Given the description of an element on the screen output the (x, y) to click on. 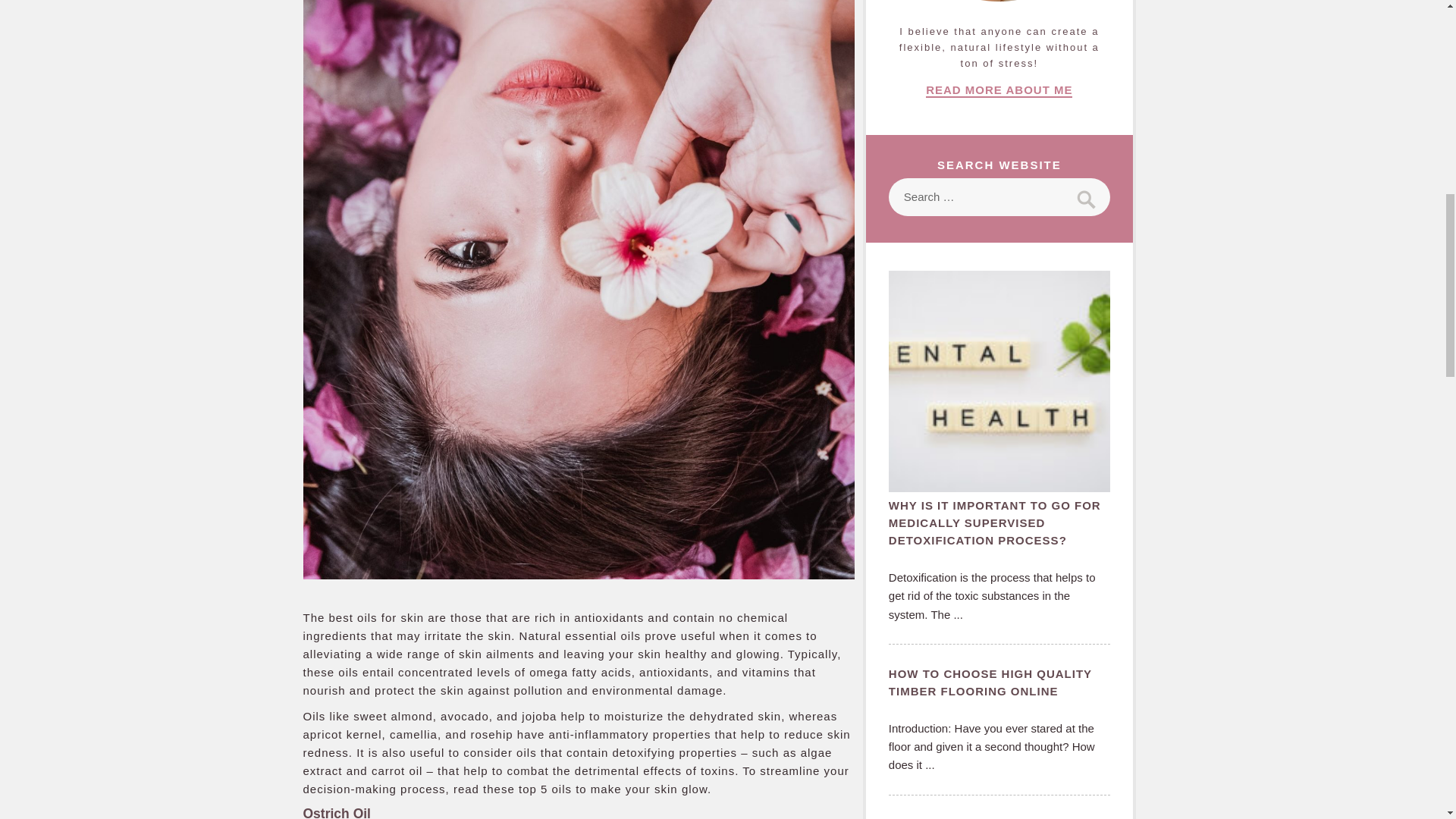
HOW TO CHOOSE HIGH QUALITY TIMBER FLOORING ONLINE (998, 686)
READ MORE ABOUT ME (998, 90)
